Given the description of an element on the screen output the (x, y) to click on. 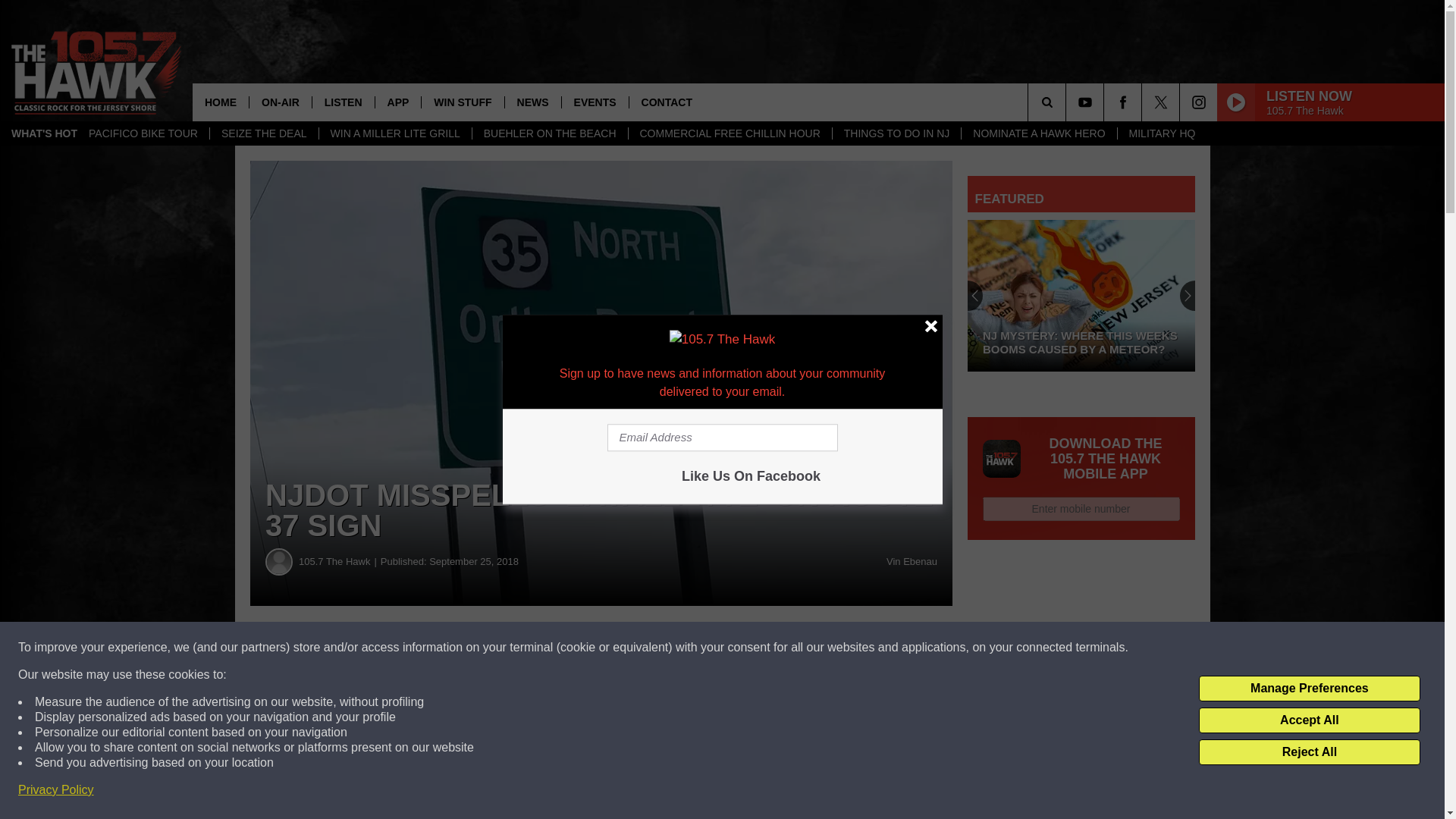
THINGS TO DO IN NJ (895, 133)
Reject All (1309, 751)
SEARCH (1068, 102)
ON-AIR (279, 102)
Share on Twitter (741, 647)
Manage Preferences (1309, 688)
BUEHLER ON THE BEACH (549, 133)
Accept All (1309, 720)
COMMERCIAL FREE CHILLIN HOUR (729, 133)
HOME (220, 102)
Privacy Policy (55, 789)
NOMINATE A HAWK HERO (1038, 133)
MILITARY HQ (1161, 133)
SEARCH (1068, 102)
SEIZE THE DEAL (263, 133)
